Given the description of an element on the screen output the (x, y) to click on. 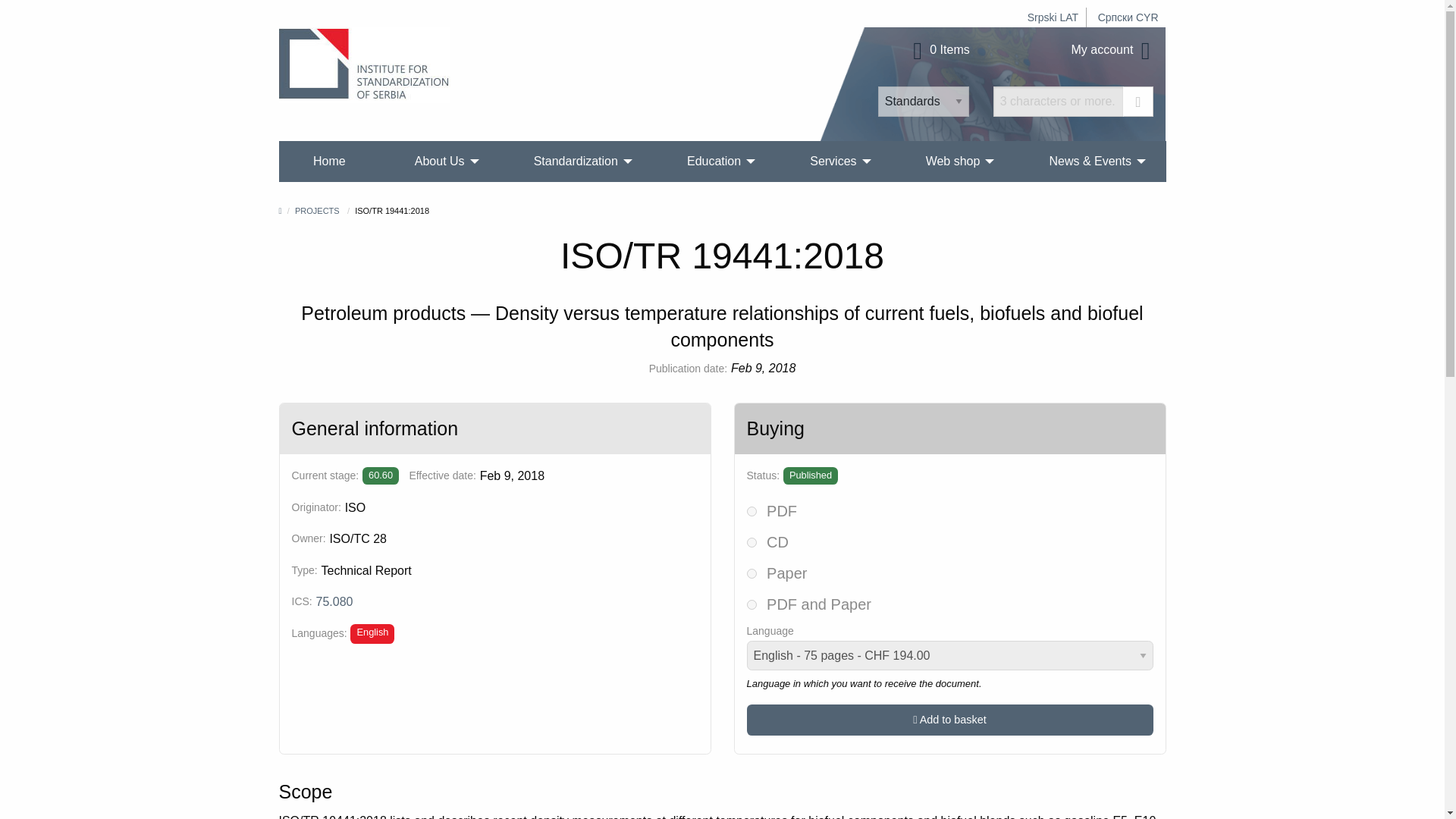
About Us (439, 160)
1268 (750, 573)
1269 (750, 604)
Search (1138, 101)
1267 (750, 511)
0 Items (938, 49)
Home (329, 160)
Standard published (380, 475)
Status (810, 475)
Srpski LAT (1052, 17)
My account (1112, 49)
Shopping cart (938, 49)
2885 (750, 542)
My account (1112, 49)
